Given the description of an element on the screen output the (x, y) to click on. 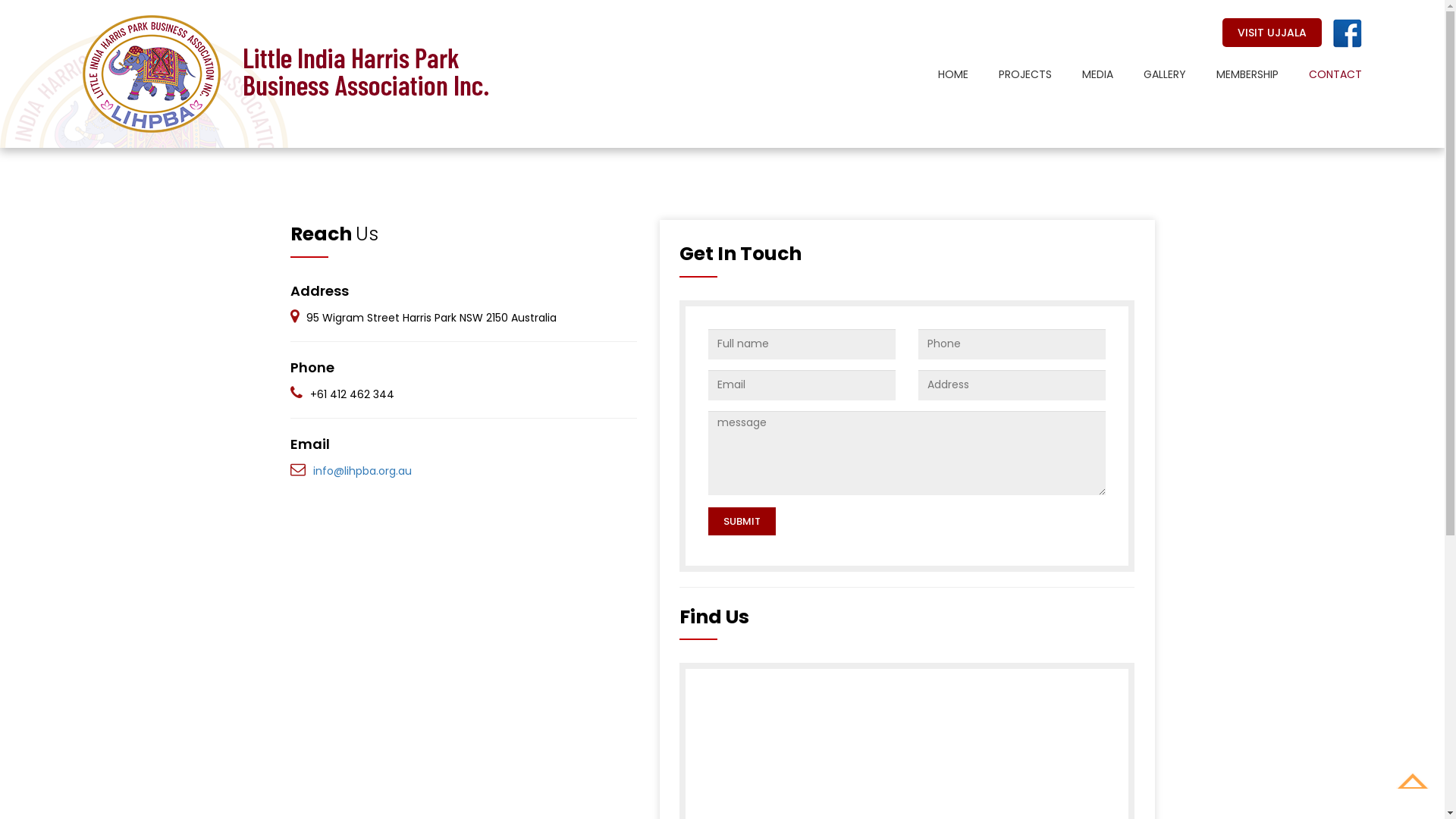
VISIT UJJALA Element type: text (1271, 32)
CONTACT Element type: text (1319, 74)
submit Element type: text (741, 521)
MEDIA Element type: text (1082, 74)
PROJECTS Element type: text (1009, 74)
GALLERY Element type: text (1149, 74)
HOME Element type: text (937, 74)
MEMBERSHIP Element type: text (1232, 74)
info@lihpba.org.au Element type: text (361, 470)
